Given the description of an element on the screen output the (x, y) to click on. 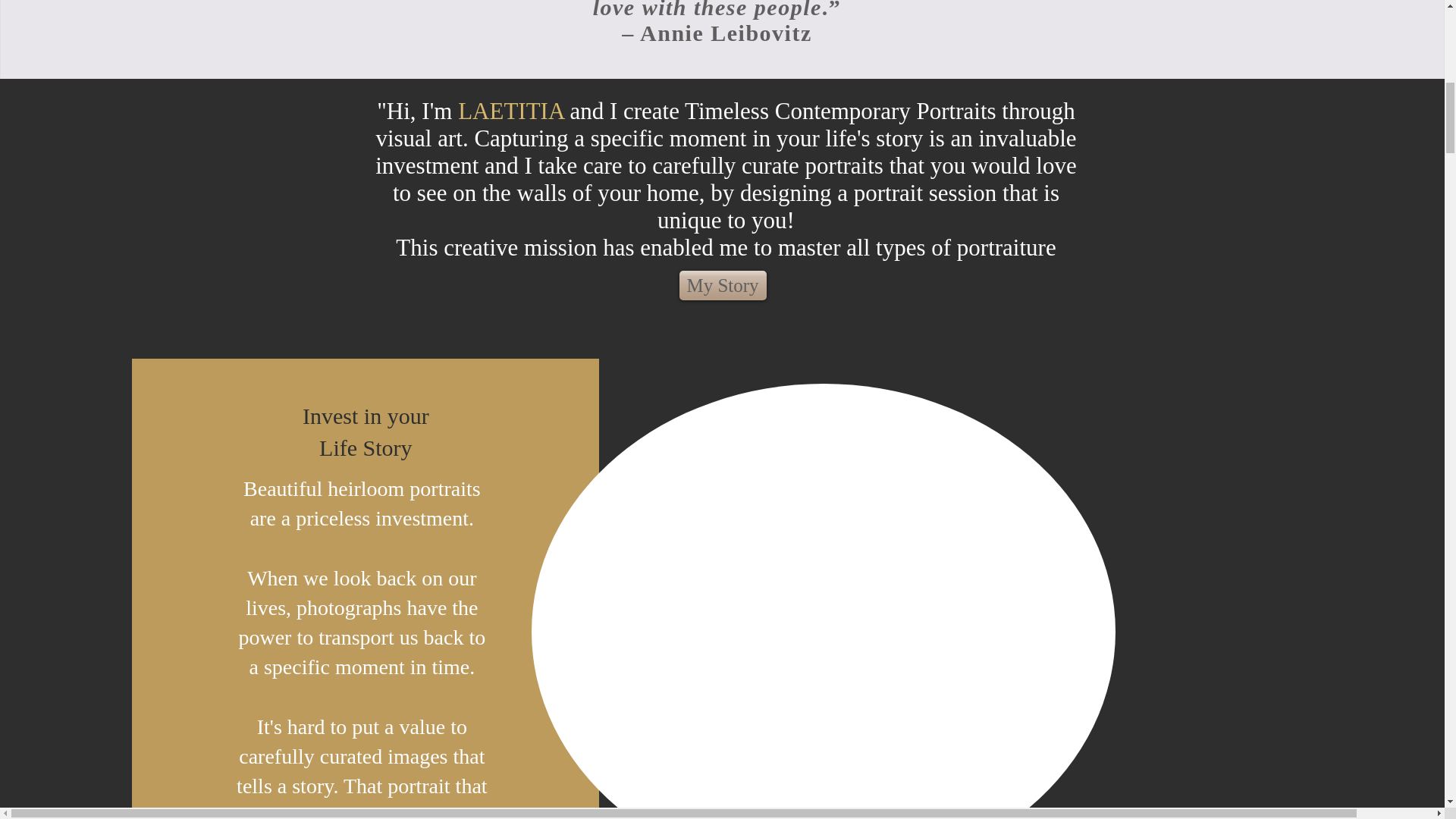
My Story (723, 285)
